Given the description of an element on the screen output the (x, y) to click on. 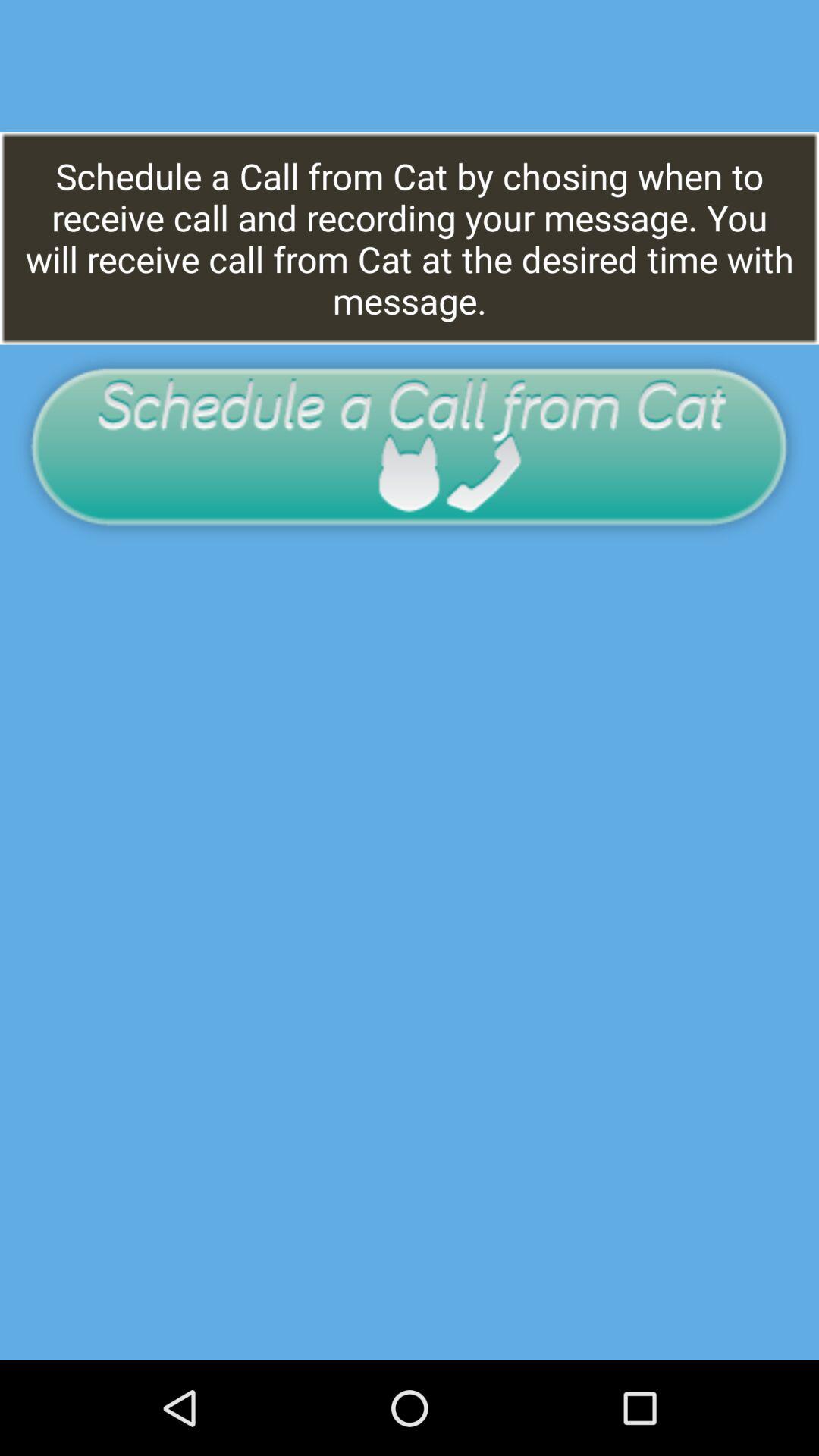
schedule a call (409, 445)
